Given the description of an element on the screen output the (x, y) to click on. 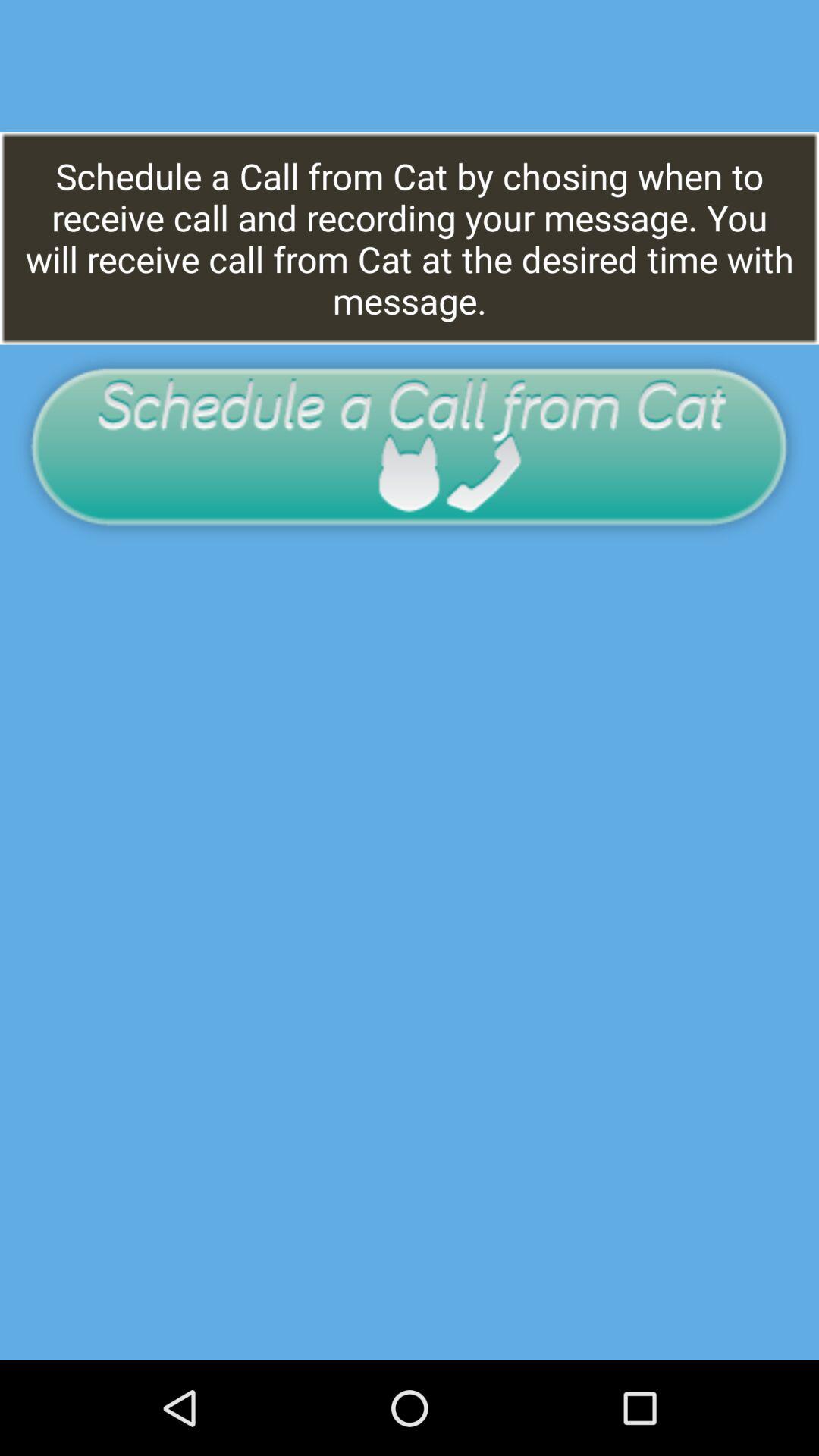
schedule a call (409, 445)
